Given the description of an element on the screen output the (x, y) to click on. 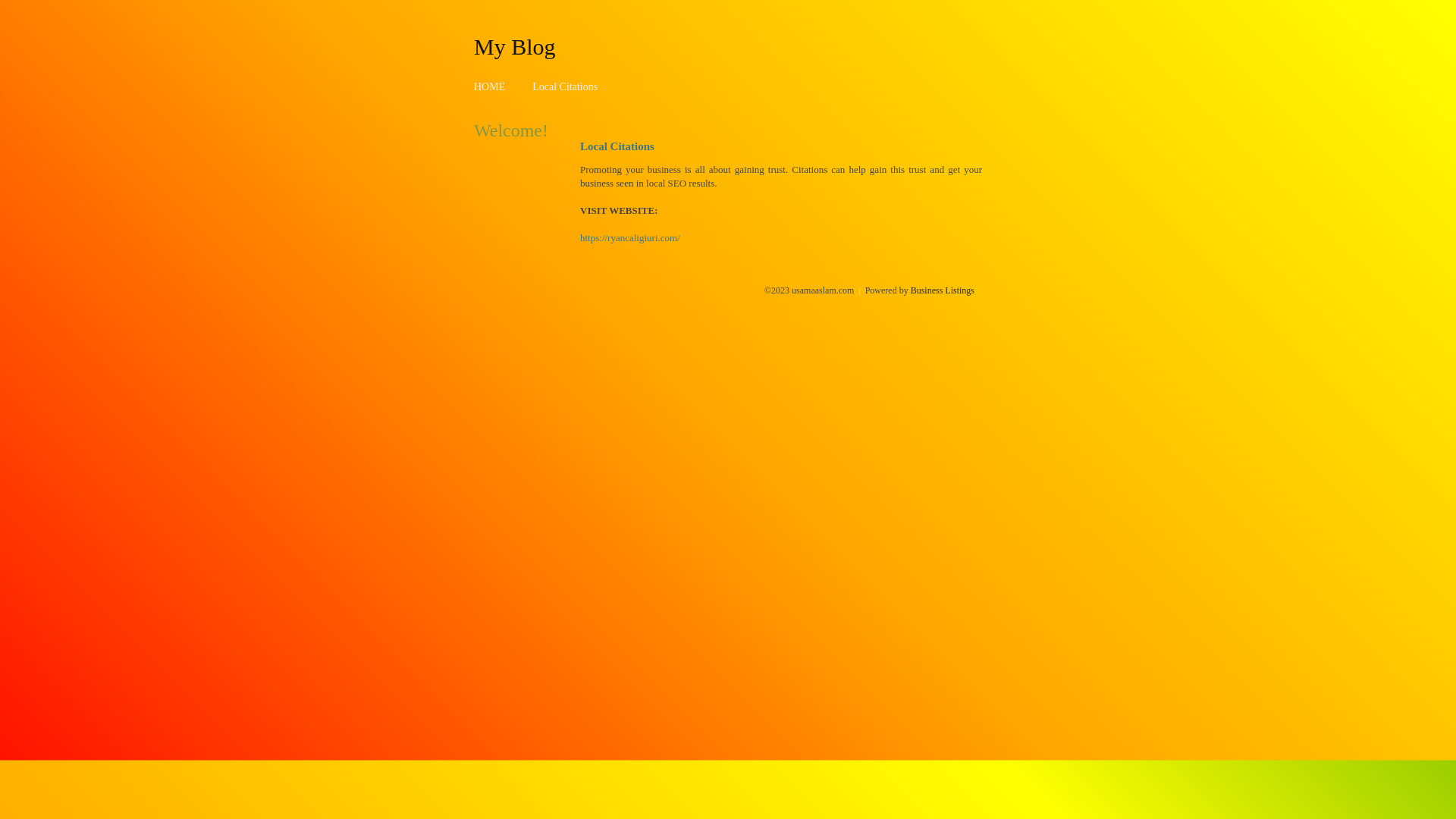
HOME Element type: text (489, 86)
Business Listings Element type: text (942, 290)
My Blog Element type: text (514, 46)
https://ryancaligiuri.com/ Element type: text (630, 237)
Local Citations Element type: text (564, 86)
